Given the description of an element on the screen output the (x, y) to click on. 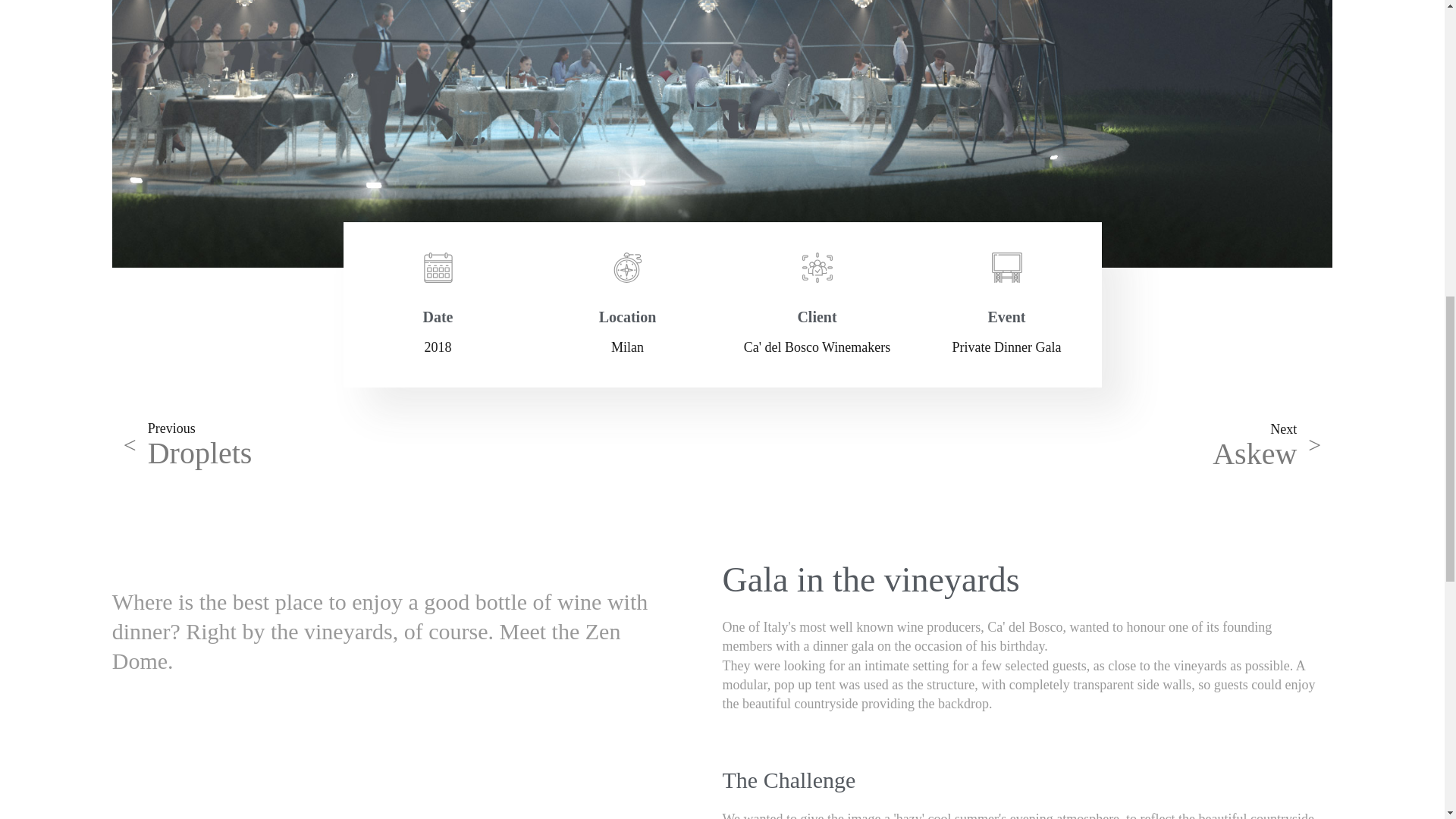
Askew (1254, 453)
Droplets (199, 452)
